Given the description of an element on the screen output the (x, y) to click on. 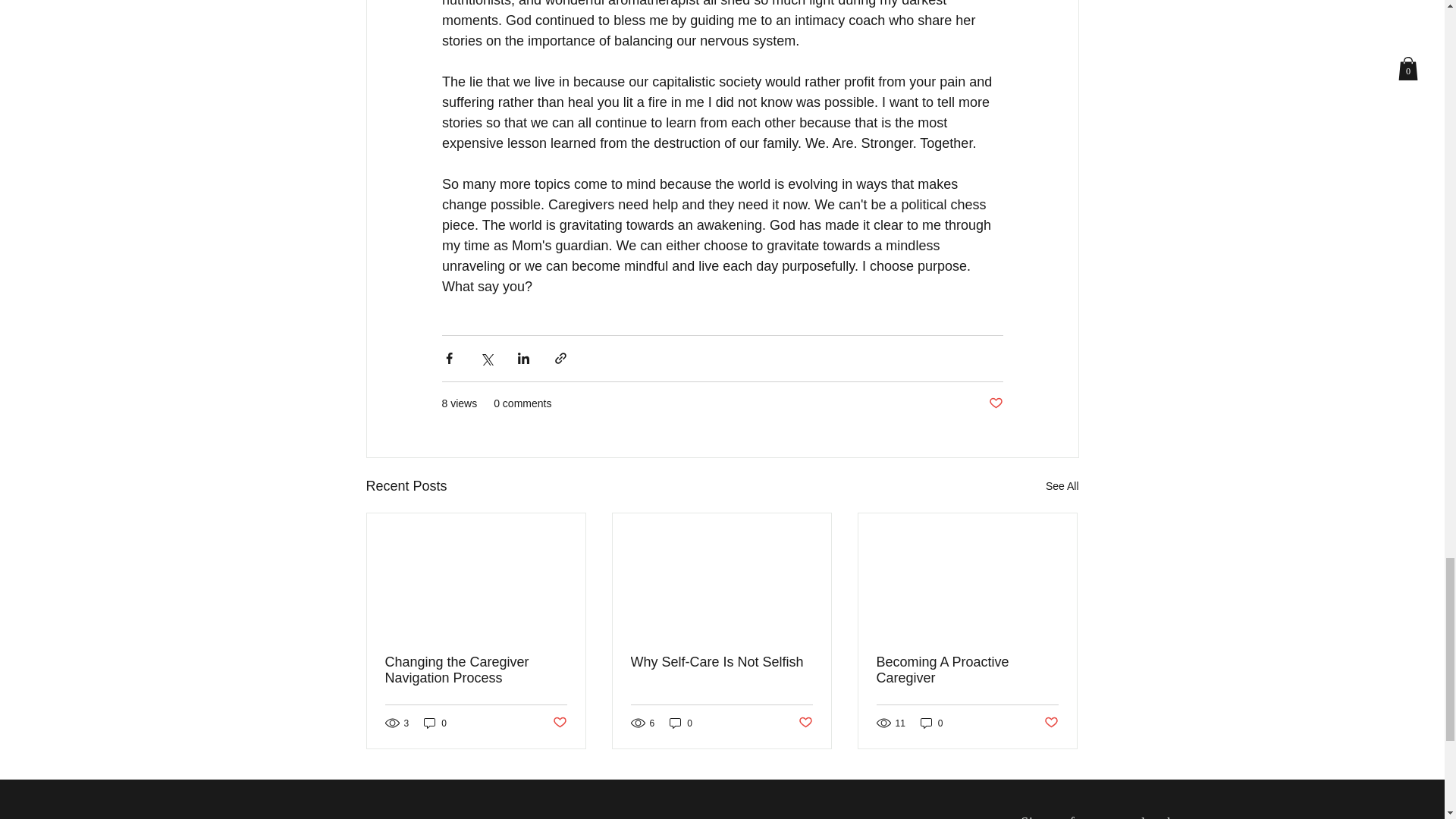
0 (681, 722)
Post not marked as liked (558, 722)
0 (931, 722)
Changing the Caregiver Navigation Process (476, 669)
Post not marked as liked (995, 403)
0 (435, 722)
Becoming A Proactive Caregiver (967, 669)
Why Self-Care Is Not Selfish (721, 661)
Post not marked as liked (1050, 722)
Post not marked as liked (804, 722)
See All (1061, 485)
